Given the description of an element on the screen output the (x, y) to click on. 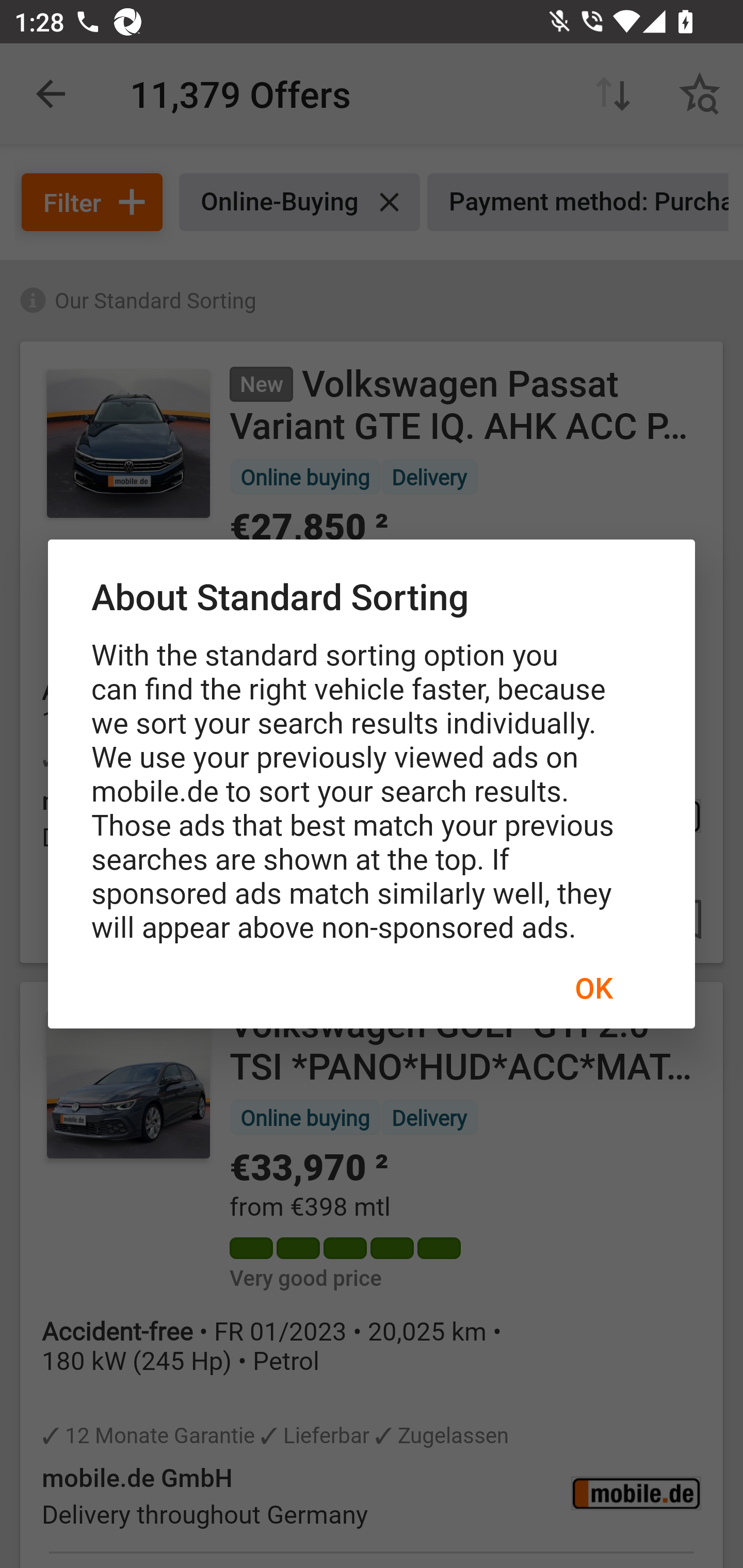
OK (593, 986)
